Given the description of an element on the screen output the (x, y) to click on. 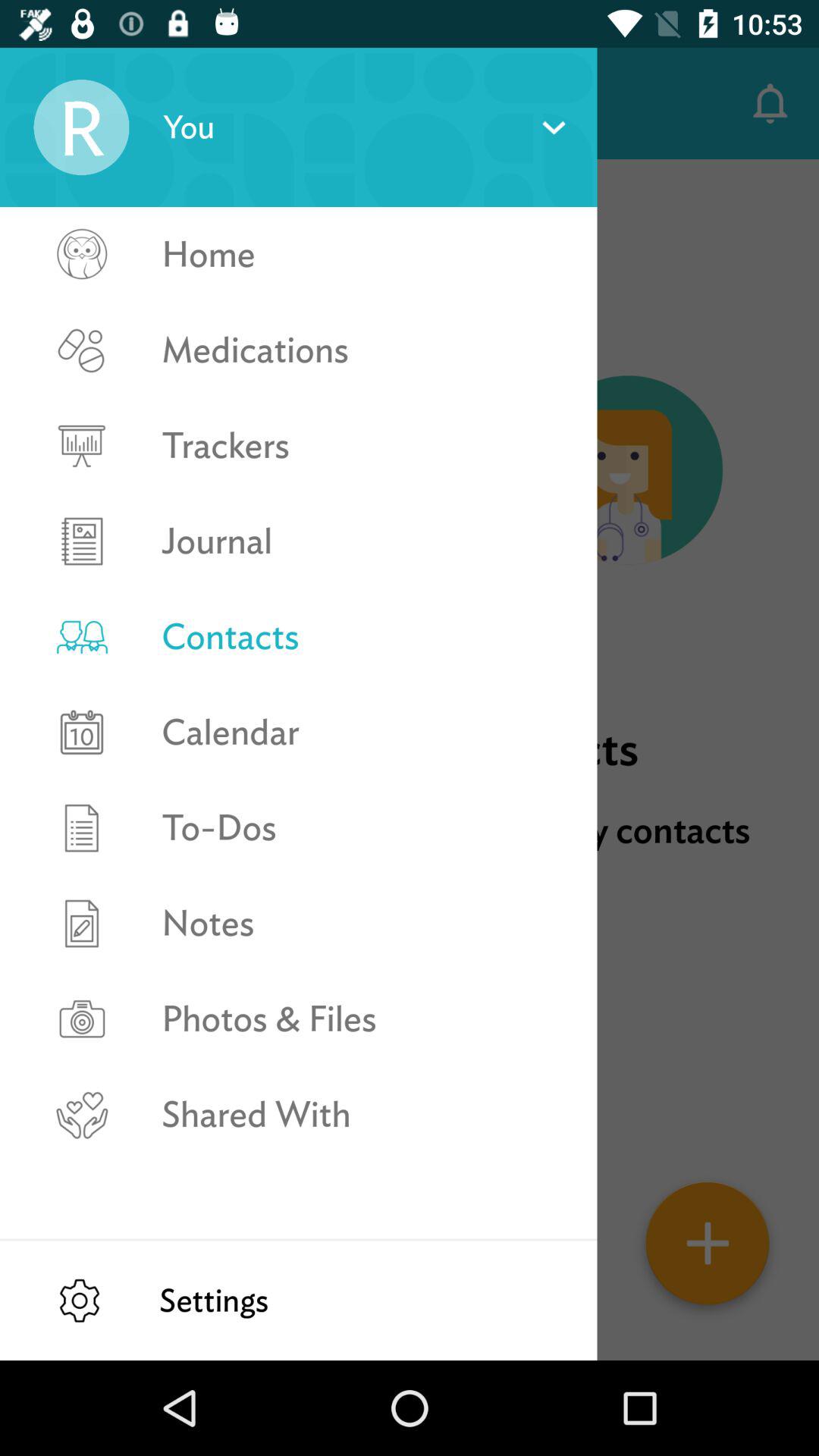
select item below the medications icon (363, 445)
